Given the description of an element on the screen output the (x, y) to click on. 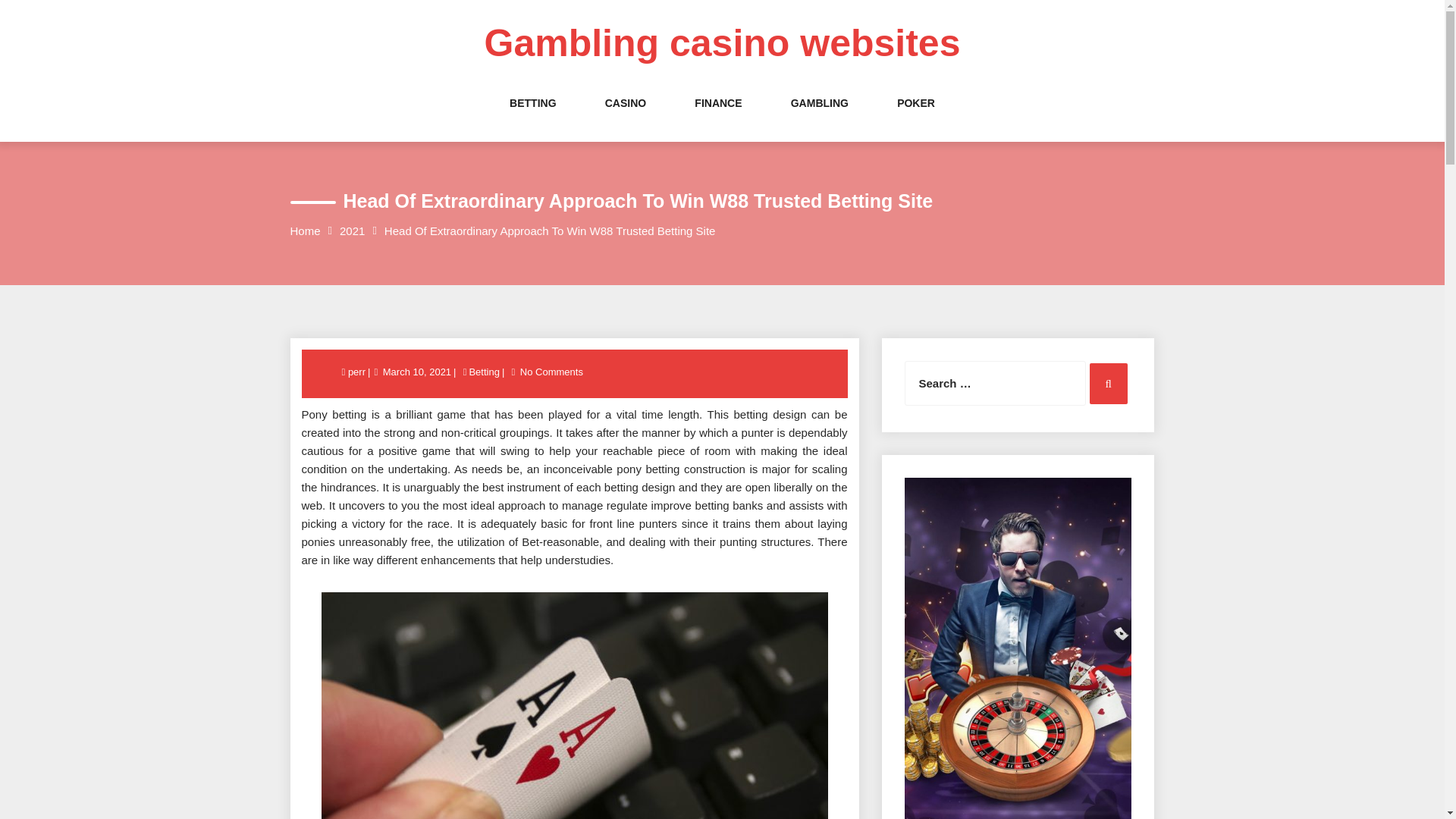
March 10, 2021 (416, 371)
perr (357, 371)
CASINO (625, 118)
2021 (352, 230)
Gambling casino websites (722, 43)
GAMBLING (819, 118)
No Comments (551, 371)
Home (304, 230)
Search (1107, 383)
Betting (482, 371)
